Given the description of an element on the screen output the (x, y) to click on. 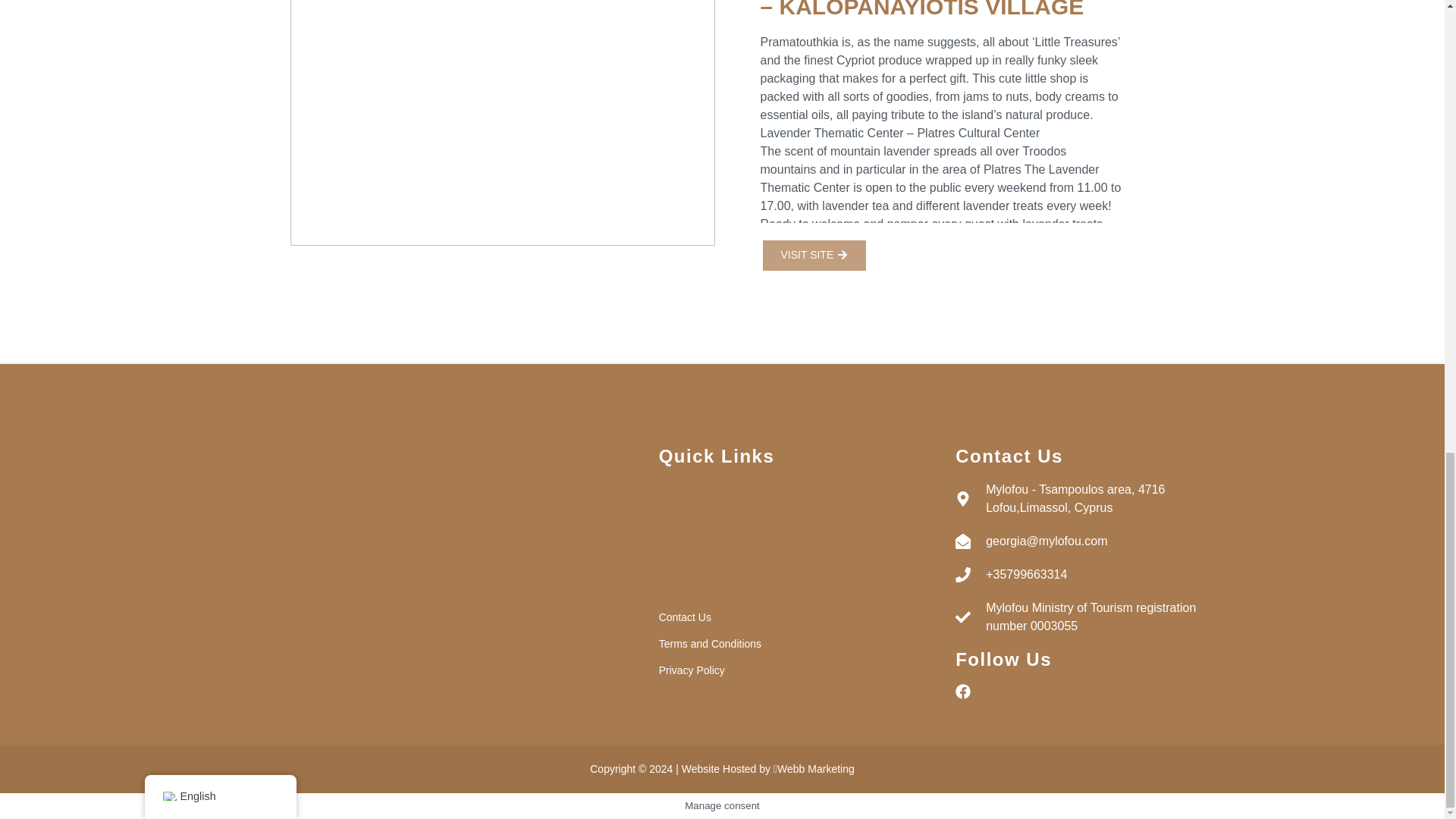
Contact Us (785, 616)
Mylofou - Tsampoulos area, 4716 Lofou,Limassol, Cyprus (1081, 498)
VISIT SITE (813, 255)
Privacy Policy (785, 670)
Terms and Conditions (785, 643)
